Given the description of an element on the screen output the (x, y) to click on. 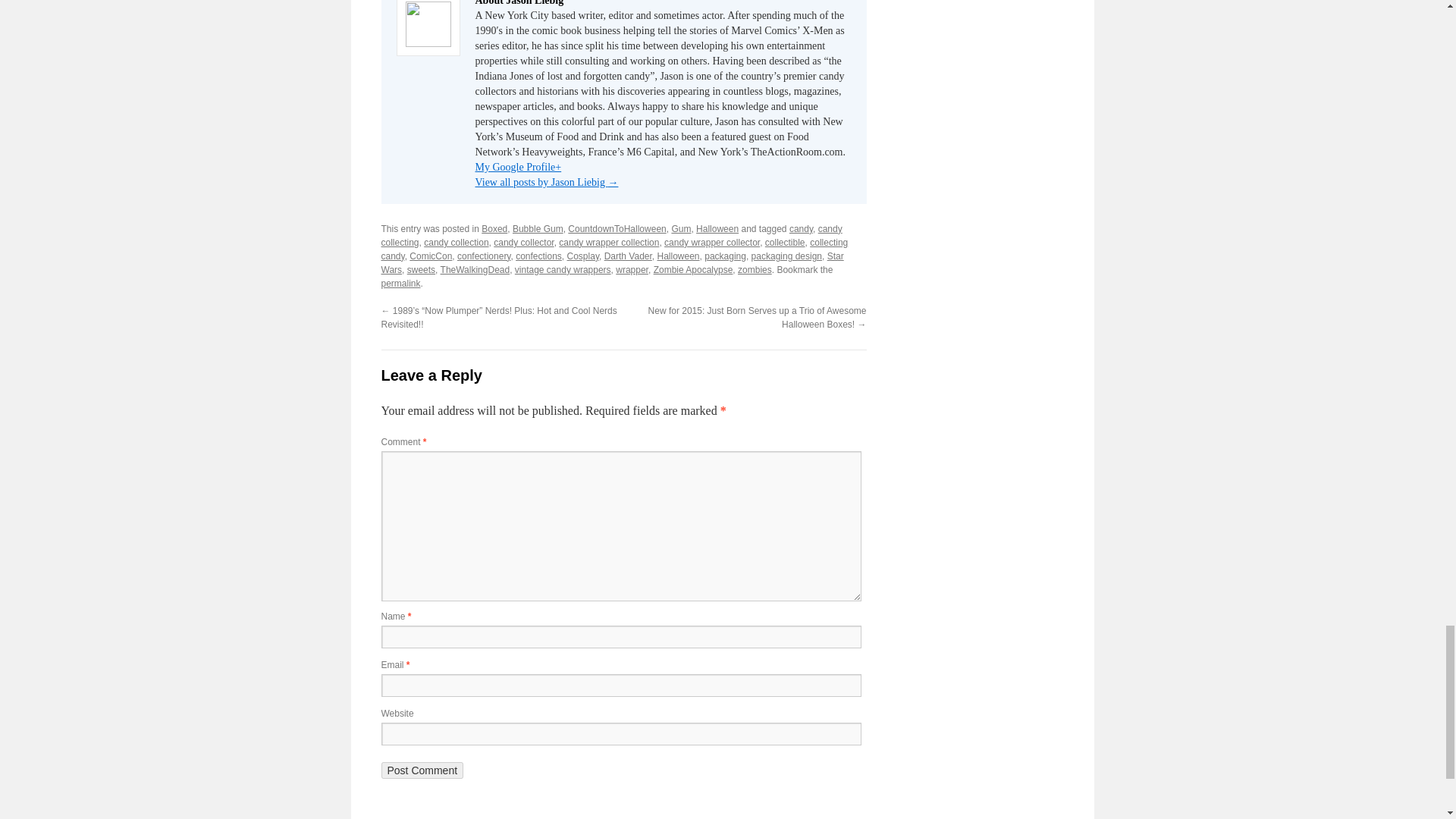
candy collector (523, 242)
confectionery (484, 255)
Bubble Gum (537, 228)
candy collecting (610, 235)
Halloween (716, 228)
Gum (680, 228)
candy (800, 228)
confections (538, 255)
collectible (785, 242)
candy wrapper collector (711, 242)
Boxed (493, 228)
collecting candy (613, 249)
candy wrapper collection (609, 242)
ComicCon (430, 255)
